Given the description of an element on the screen output the (x, y) to click on. 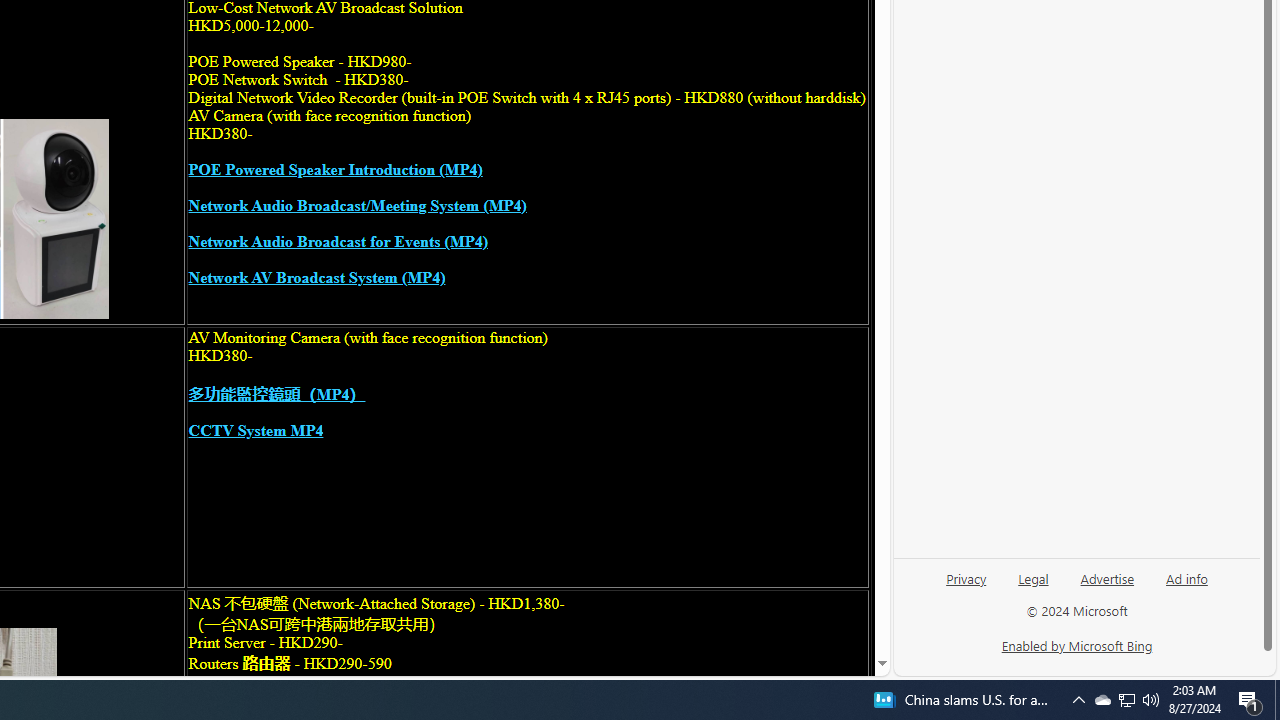
Network Audio Broadcast/Meeting System (MP4) (357, 206)
Network AV Broadcast System (MP4) (316, 278)
CCTV System MP4 (255, 430)
Network Audio Broadcast for Events (MP4)  (337, 242)
POE Powered Speaker Introduction (MP4) (335, 170)
